Given the description of an element on the screen output the (x, y) to click on. 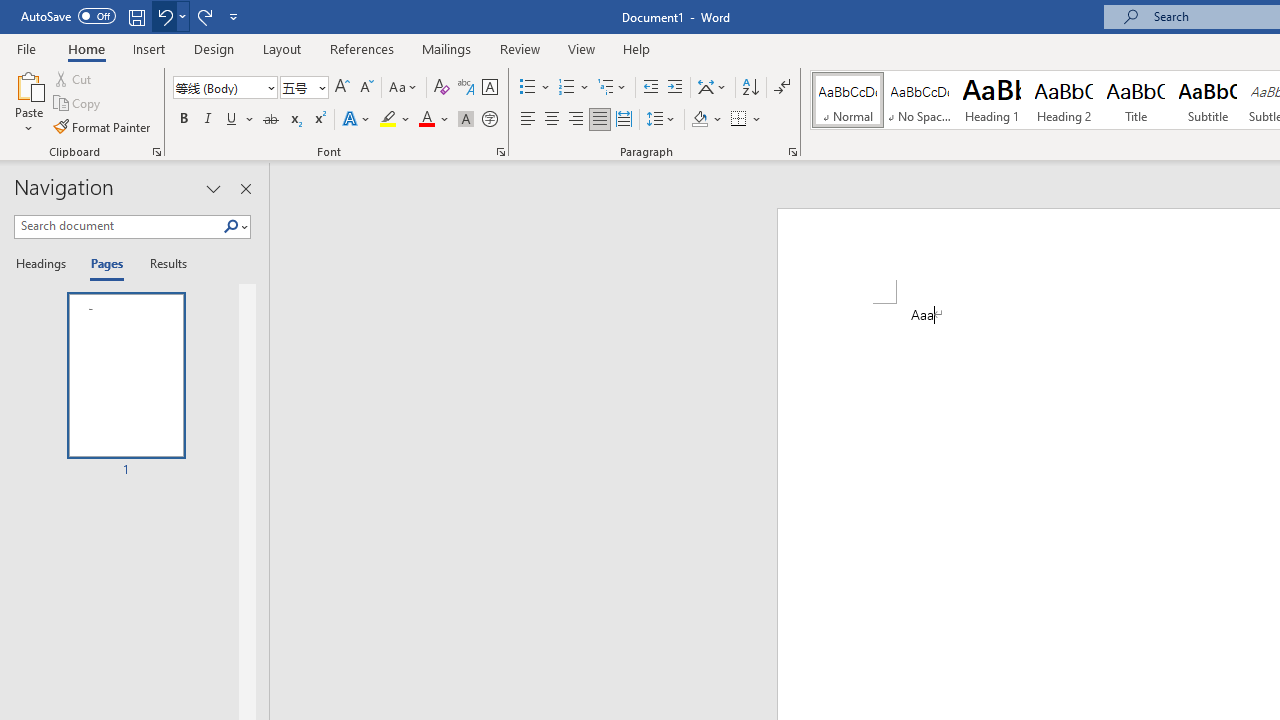
Strikethrough (270, 119)
Sort... (750, 87)
Review (520, 48)
Text Effects and Typography (357, 119)
Mailings (447, 48)
Subtitle (1208, 100)
Shrink Font (365, 87)
Copy (78, 103)
